Given the description of an element on the screen output the (x, y) to click on. 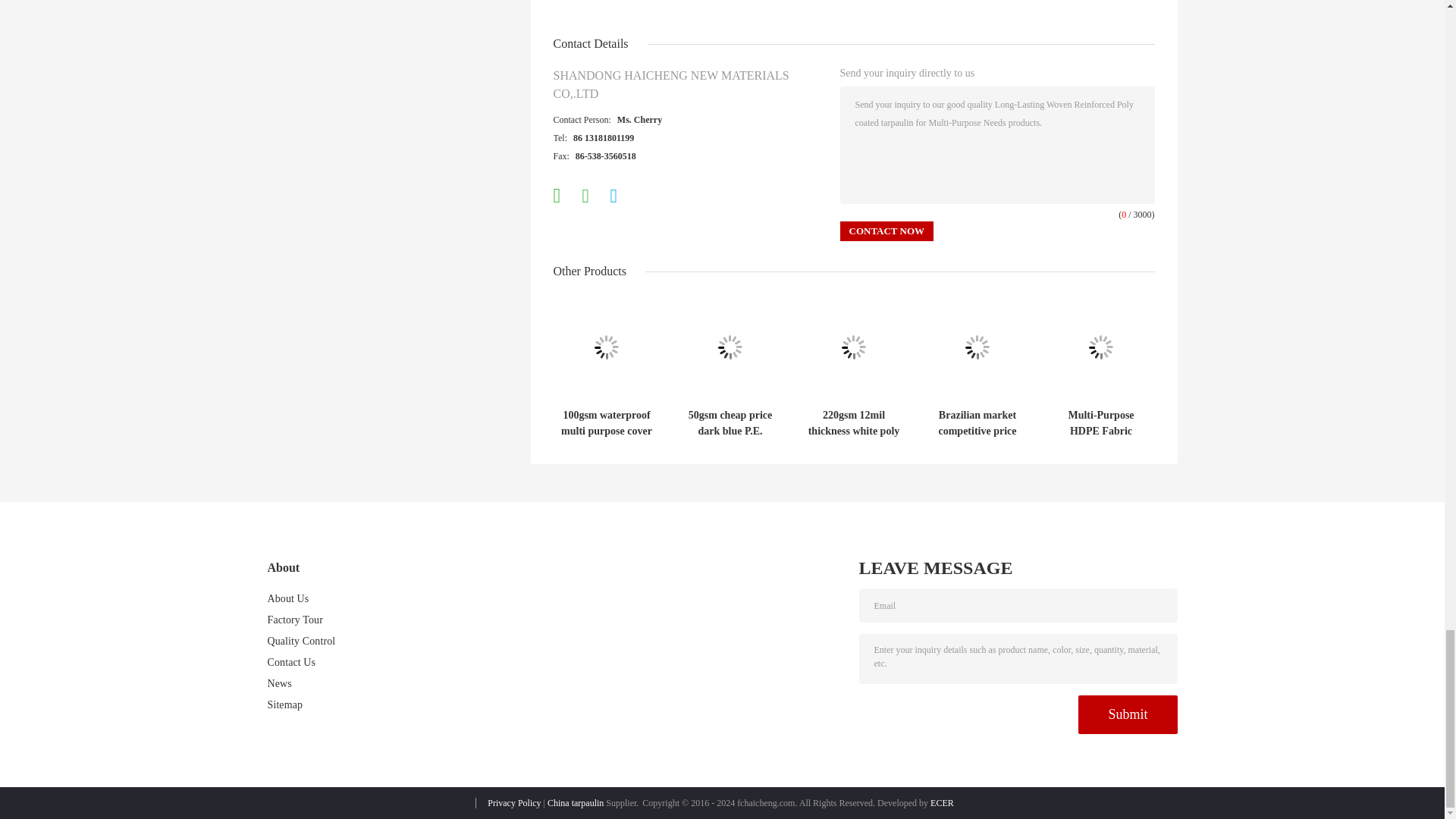
Submit (1127, 714)
Contact Now (887, 230)
